Given the description of an element on the screen output the (x, y) to click on. 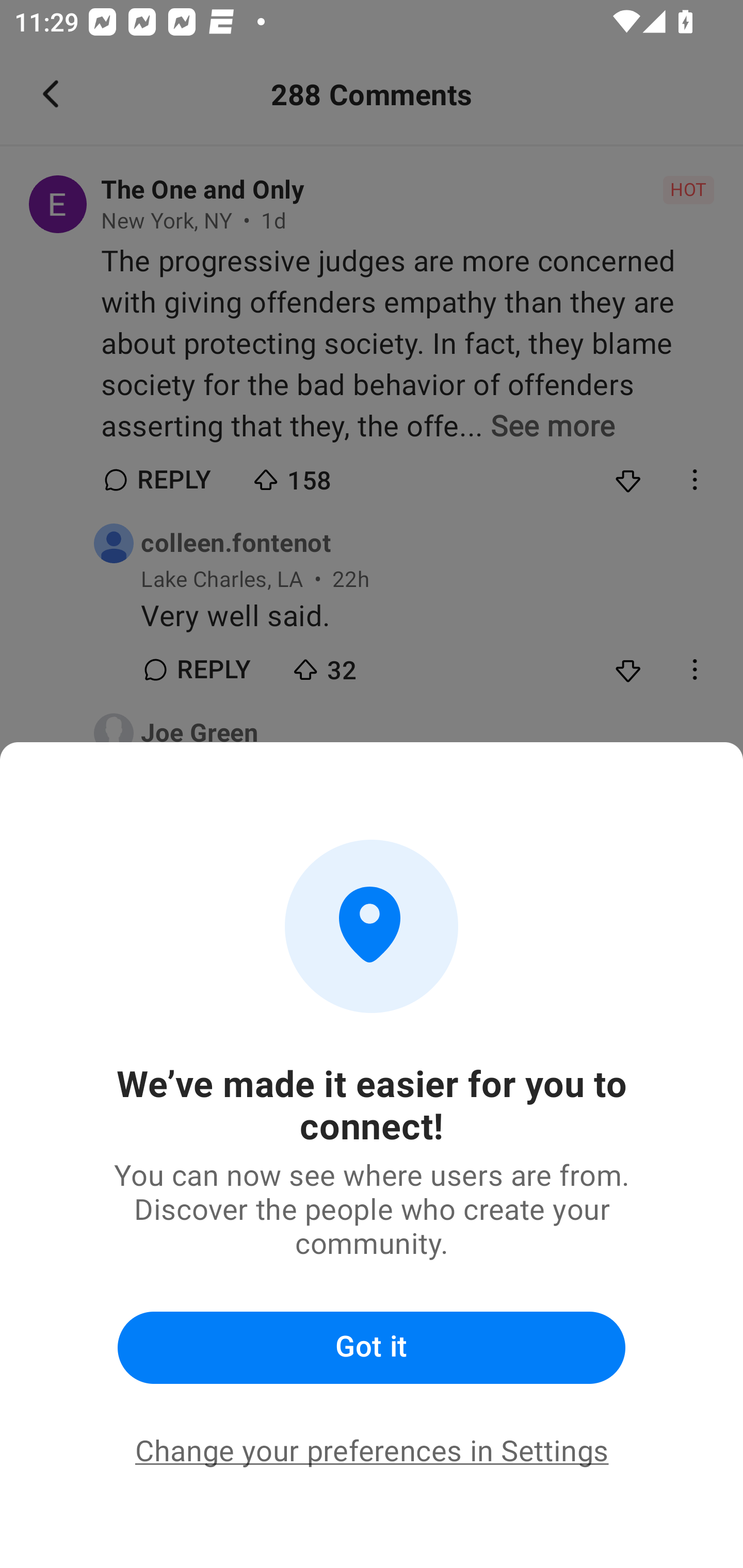
Got it (371, 1348)
Change your preferences in Settings (371, 1451)
